Given the description of an element on the screen output the (x, y) to click on. 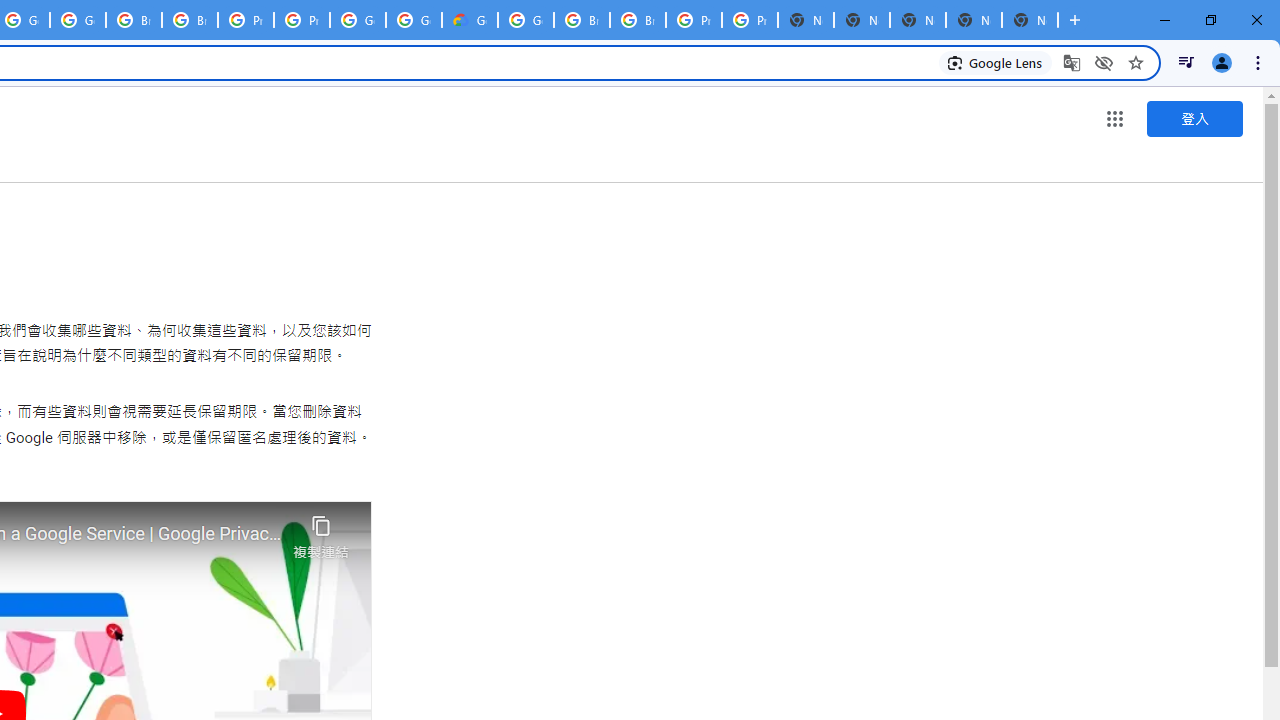
New Tab (1030, 20)
Google Cloud Platform (413, 20)
Browse Chrome as a guest - Computer - Google Chrome Help (189, 20)
Google Cloud Platform (525, 20)
Browse Chrome as a guest - Computer - Google Chrome Help (134, 20)
Restore (1210, 20)
Third-party cookies blocked (1103, 62)
Browse Chrome as a guest - Computer - Google Chrome Help (582, 20)
